Given the description of an element on the screen output the (x, y) to click on. 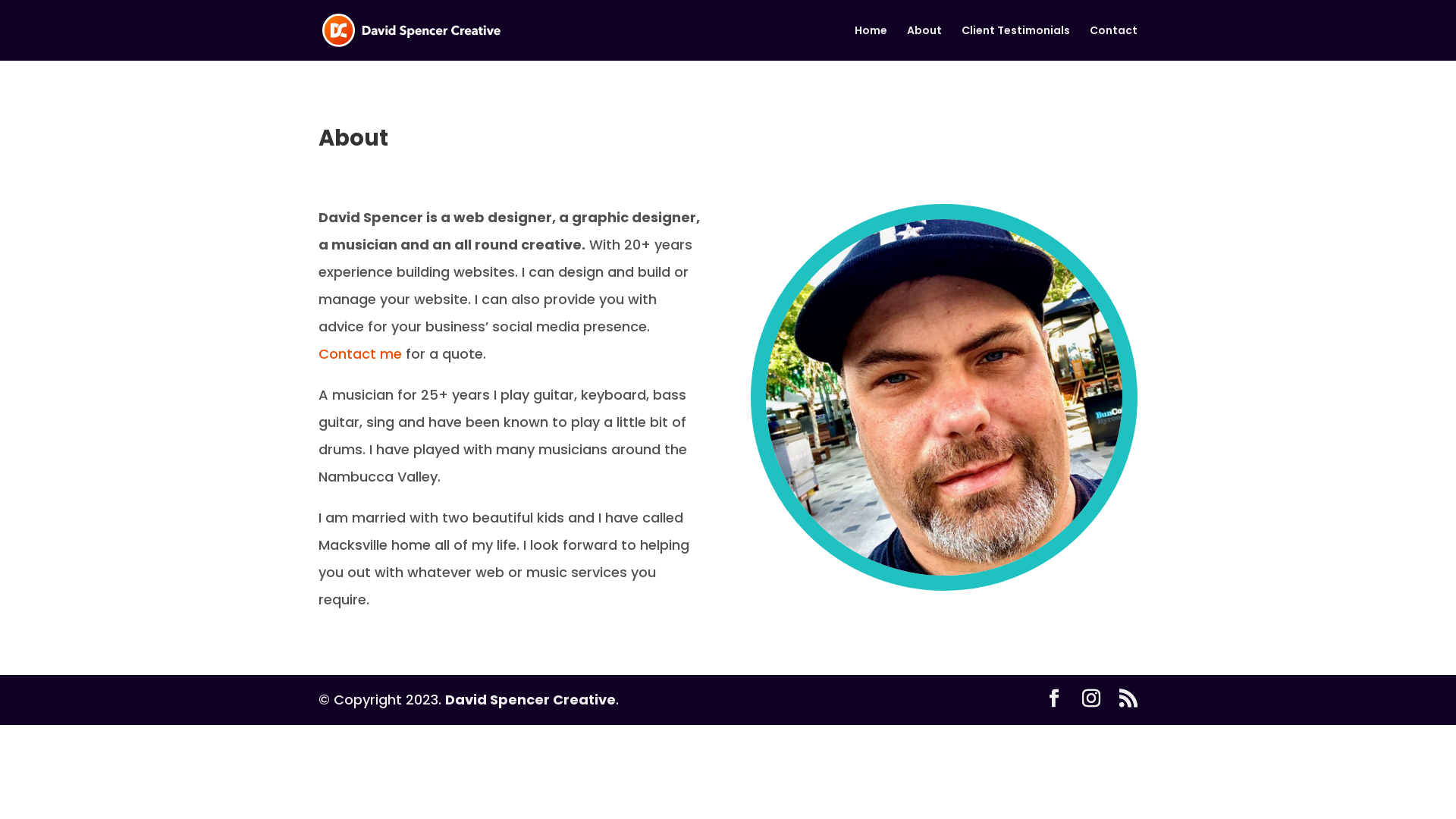
Contact me Element type: text (359, 353)
David Spencer Element type: hover (943, 396)
About Element type: text (923, 42)
Contact Element type: text (1113, 42)
Client Testimonials Element type: text (1015, 42)
Home Element type: text (870, 42)
David Spencer Creative Element type: text (530, 699)
